Given the description of an element on the screen output the (x, y) to click on. 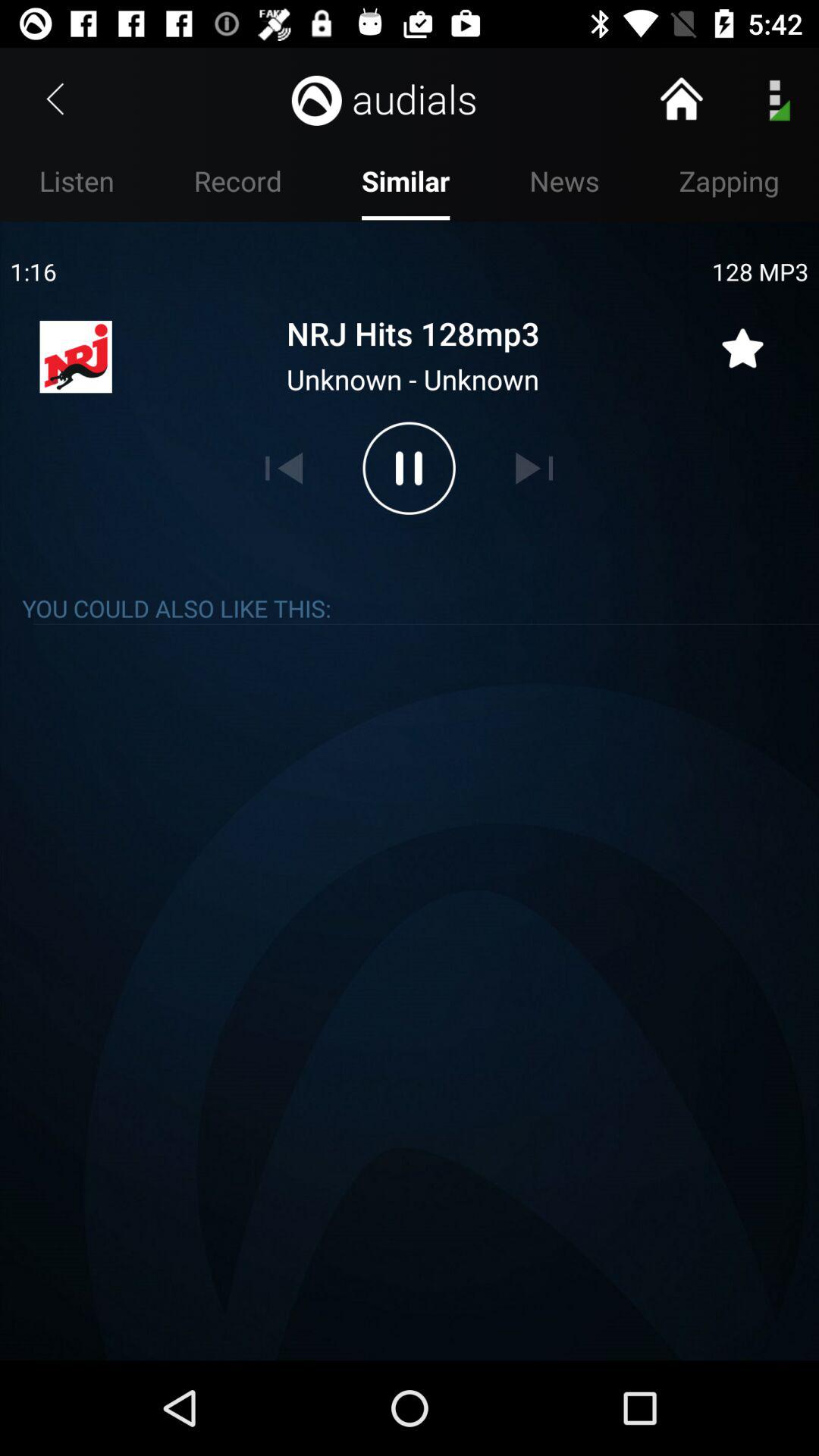
go to music play (408, 468)
